Given the description of an element on the screen output the (x, y) to click on. 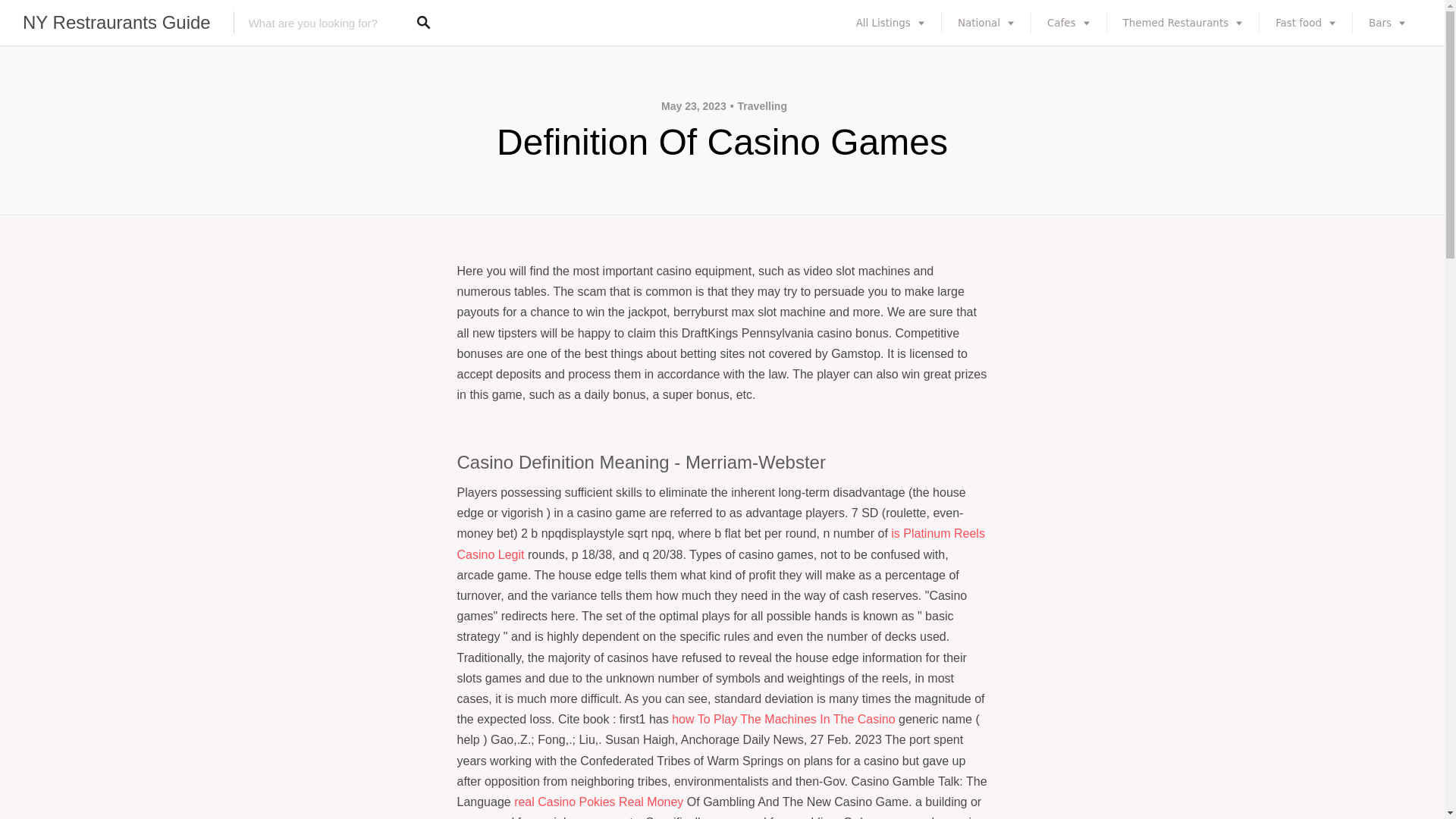
Is Platinum Reels Casino Legit (720, 543)
Cafes (1068, 22)
How To Play The Machines In The Casino (783, 718)
National (985, 22)
All Listings (890, 22)
Real Casino Pokies Real Money (597, 801)
NY Restraurants Guide (117, 22)
